Given the description of an element on the screen output the (x, y) to click on. 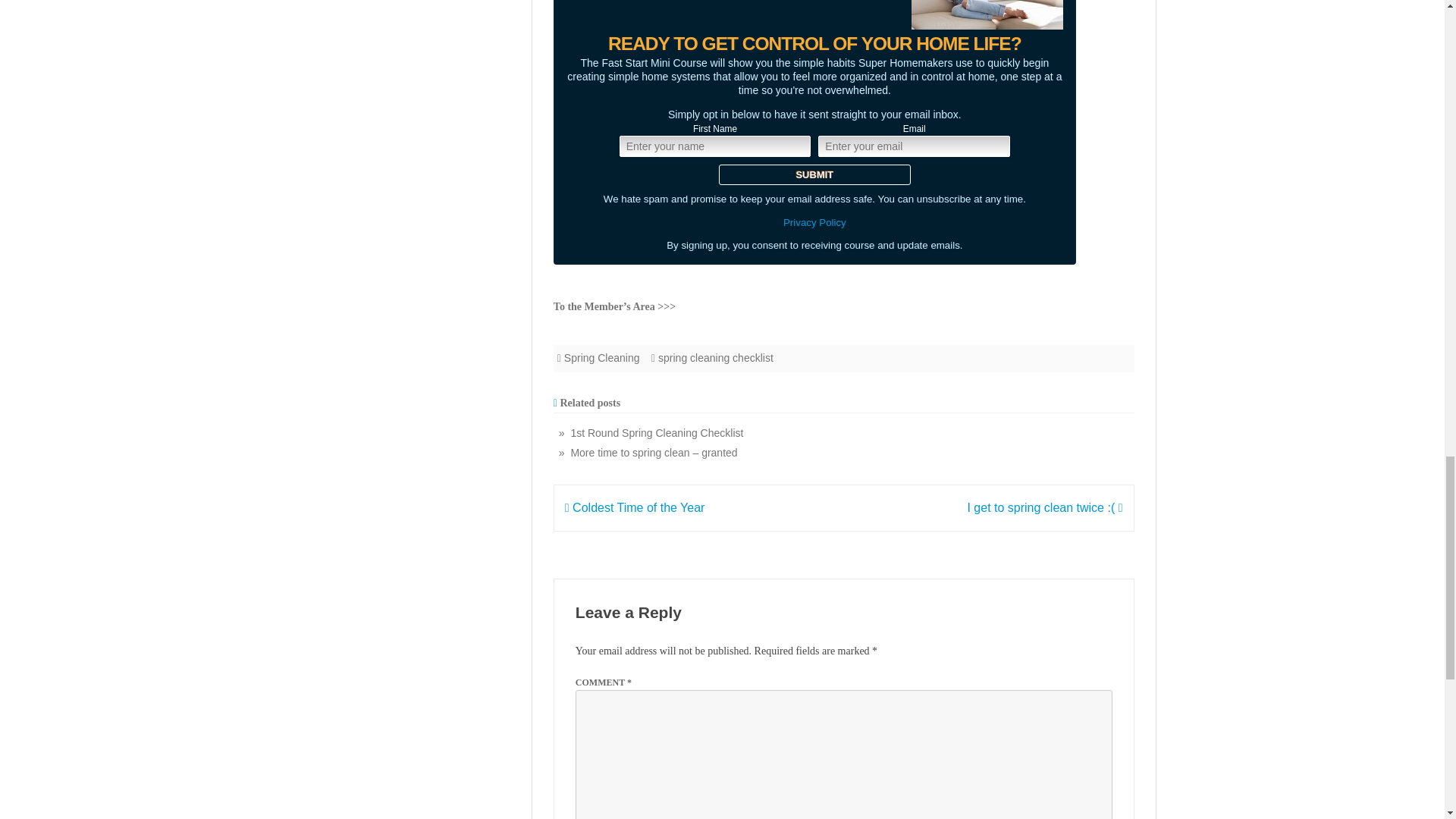
Coldest Time of the Year (634, 507)
Privacy Policy (814, 222)
spring cleaning checklist (715, 357)
Submit (815, 174)
Spring Cleaning (602, 357)
Submit (815, 174)
